Given the description of an element on the screen output the (x, y) to click on. 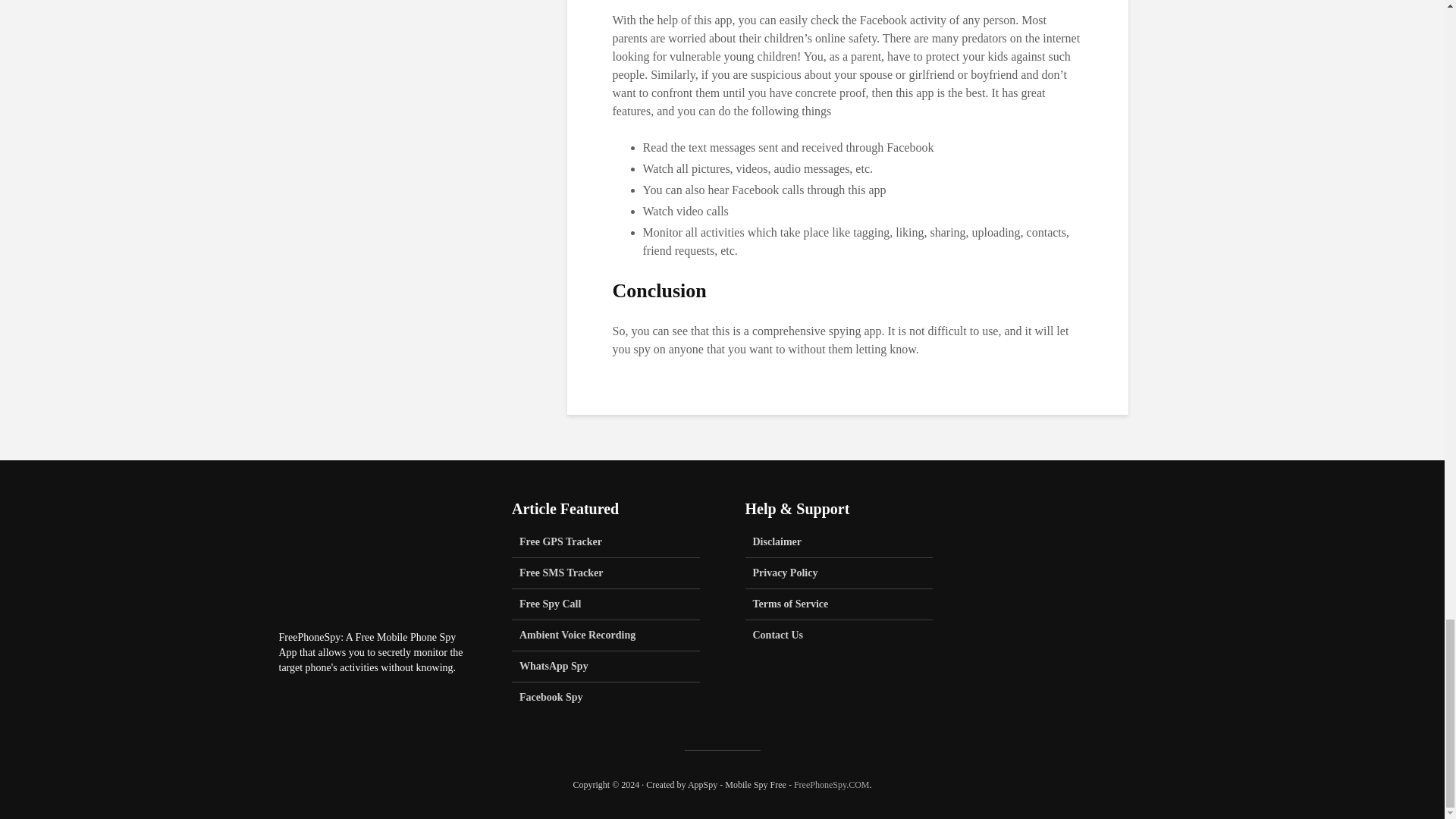
WhatsApp Spy (606, 666)
Free GPS Tracker (606, 545)
Free Spy Call (606, 603)
Free SMS Tracker (606, 572)
Ambient Voice Recording (606, 635)
Facebook Spy (606, 697)
